Given the description of an element on the screen output the (x, y) to click on. 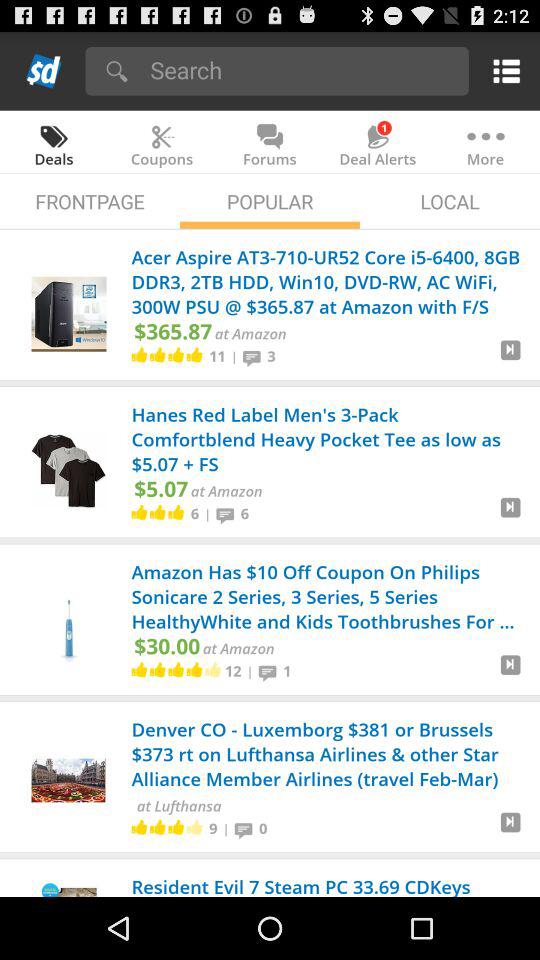
tap | (207, 513)
